Given the description of an element on the screen output the (x, y) to click on. 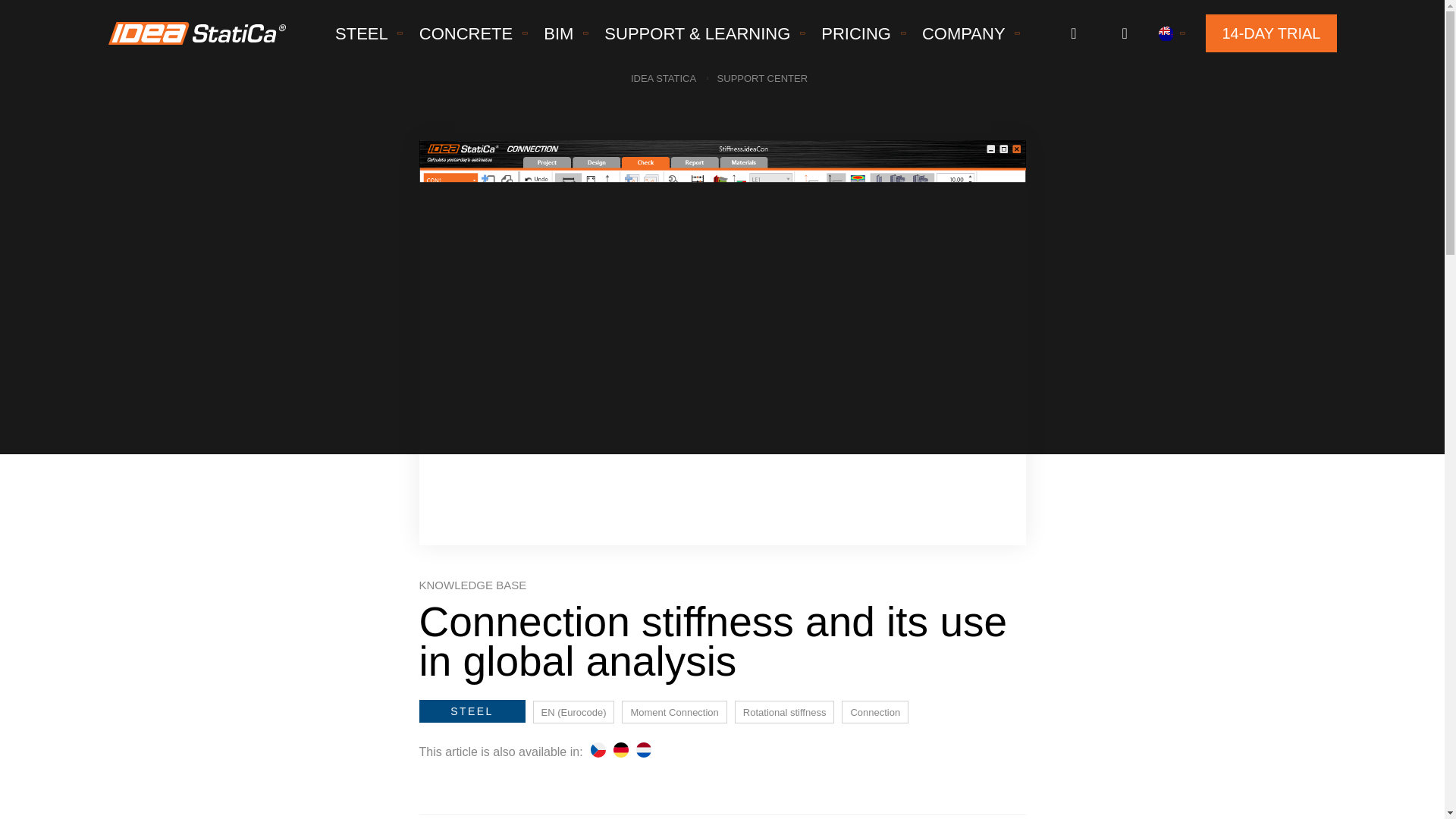
PRICING (855, 33)
Portal (1072, 33)
Pricing (855, 33)
Steel (361, 33)
14-DAY TRIAL (1270, 33)
STEEL (361, 33)
COMPANY (963, 33)
CONCRETE (465, 33)
Concrete (465, 33)
